Given the description of an element on the screen output the (x, y) to click on. 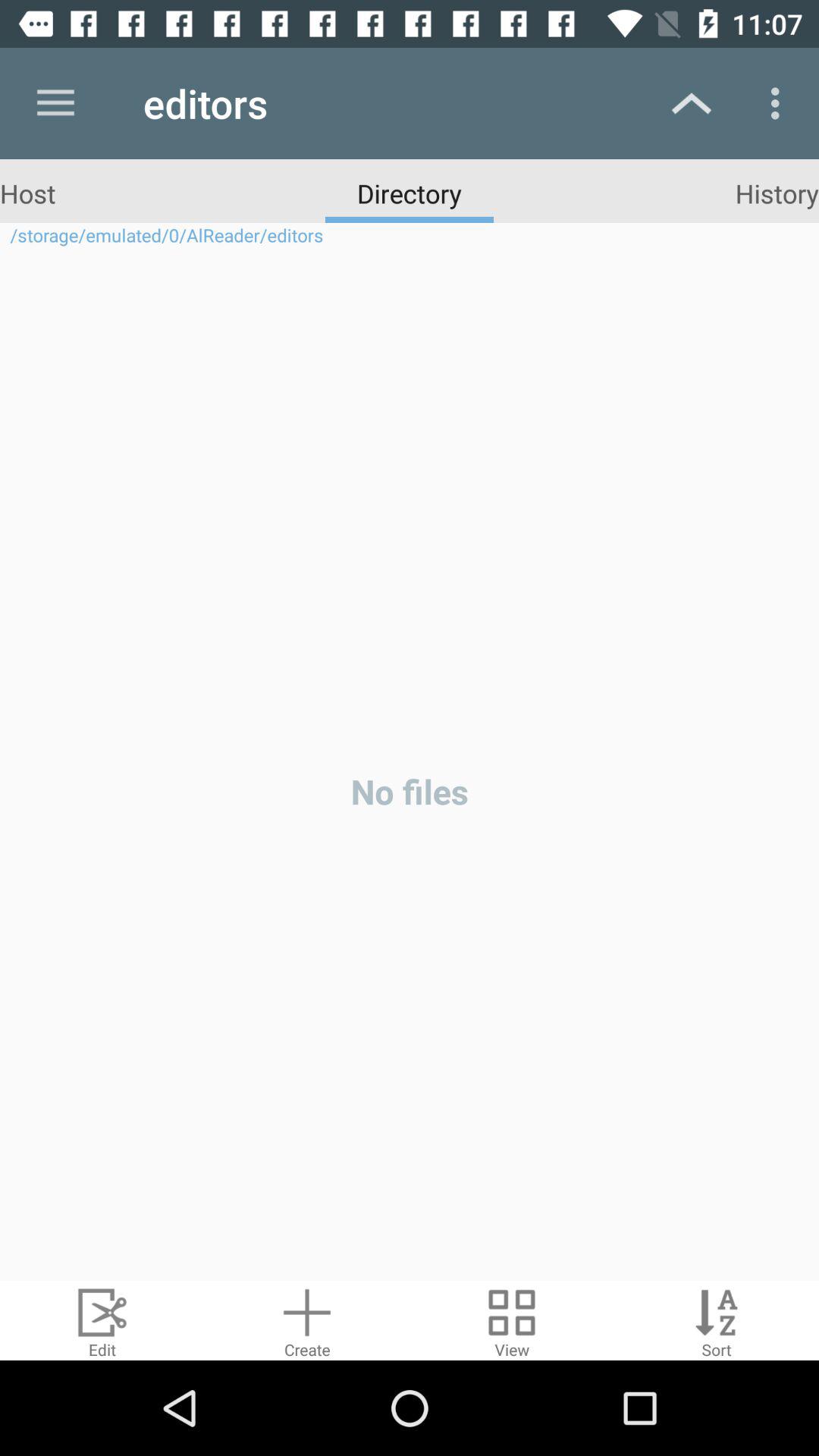
sort alphabetically (716, 1320)
